Given the description of an element on the screen output the (x, y) to click on. 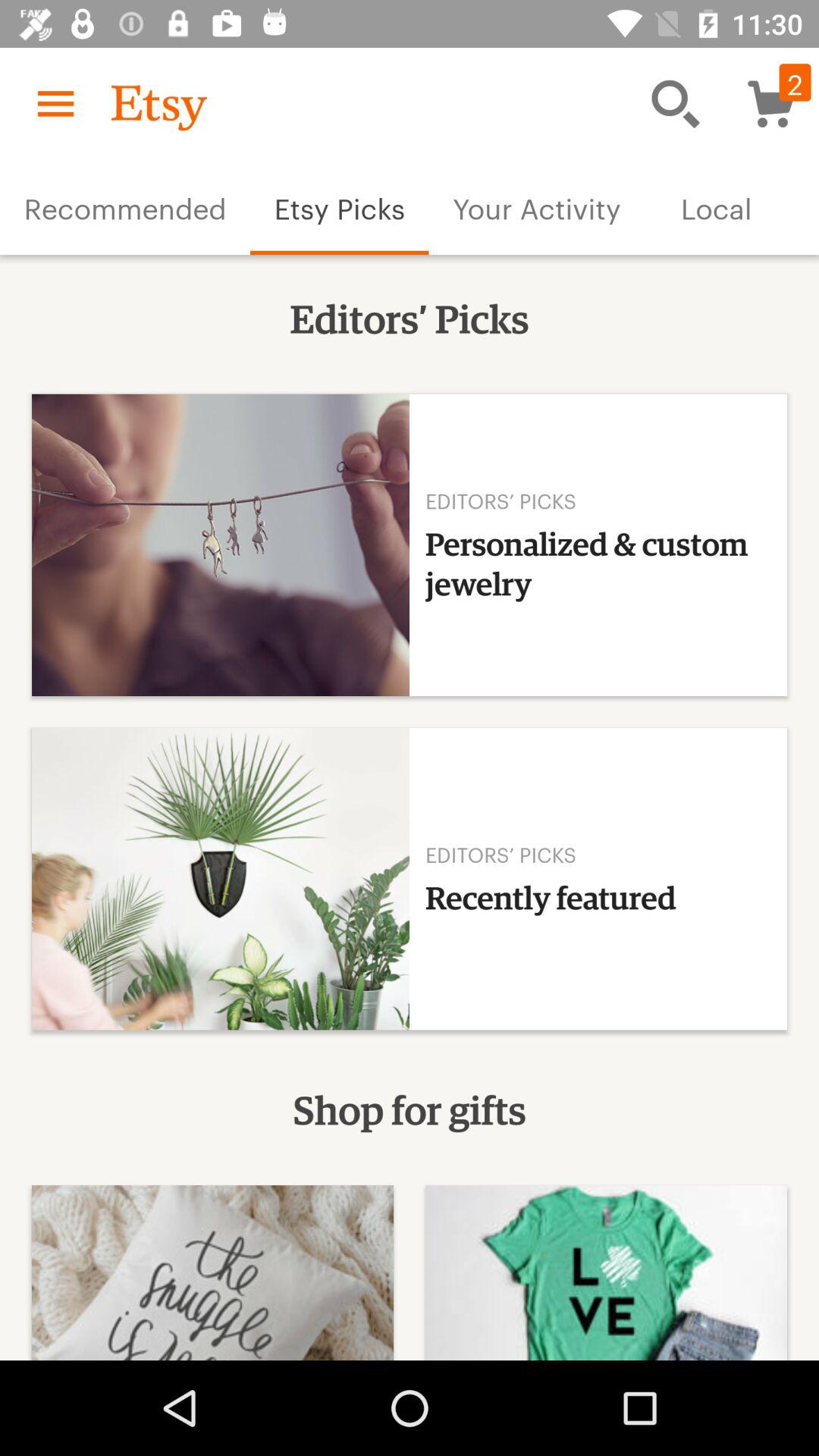
turn off item above the recommended (55, 103)
